Given the description of an element on the screen output the (x, y) to click on. 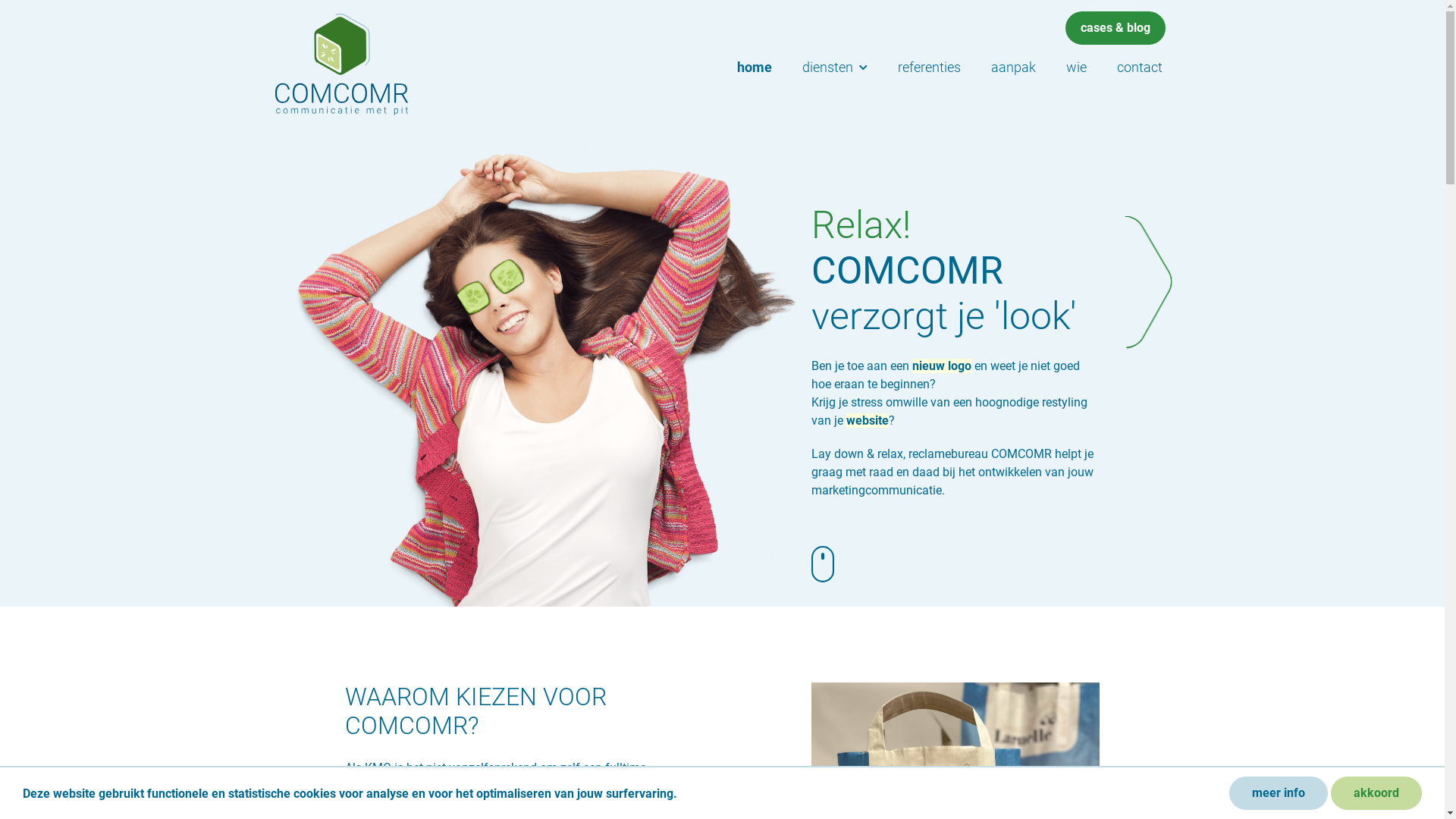
contact Element type: text (1138, 66)
cases & blog Element type: text (1114, 27)
aanpak Element type: text (1012, 66)
wie Element type: text (1076, 66)
website Element type: text (867, 420)
nieuw logo Element type: text (941, 365)
diensten Element type: text (834, 66)
referenties Element type: text (928, 66)
home Element type: text (754, 66)
meer info Element type: text (1278, 792)
